Given the description of an element on the screen output the (x, y) to click on. 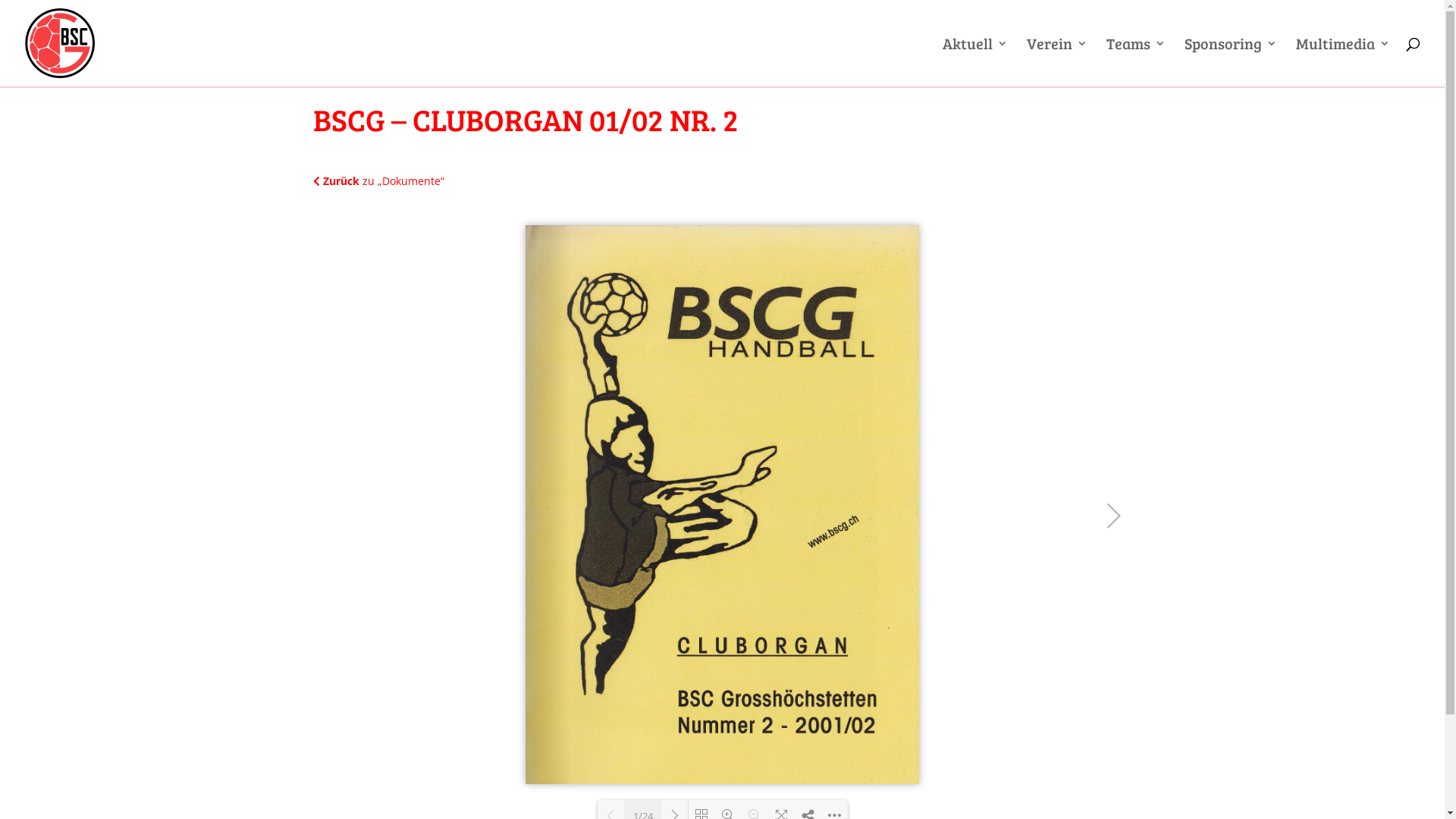
Multimedia Element type: text (1342, 61)
Verein Element type: text (1056, 61)
Aktuell Element type: text (974, 61)
Teams Element type: text (1135, 61)
Sponsoring Element type: text (1230, 61)
